Given the description of an element on the screen output the (x, y) to click on. 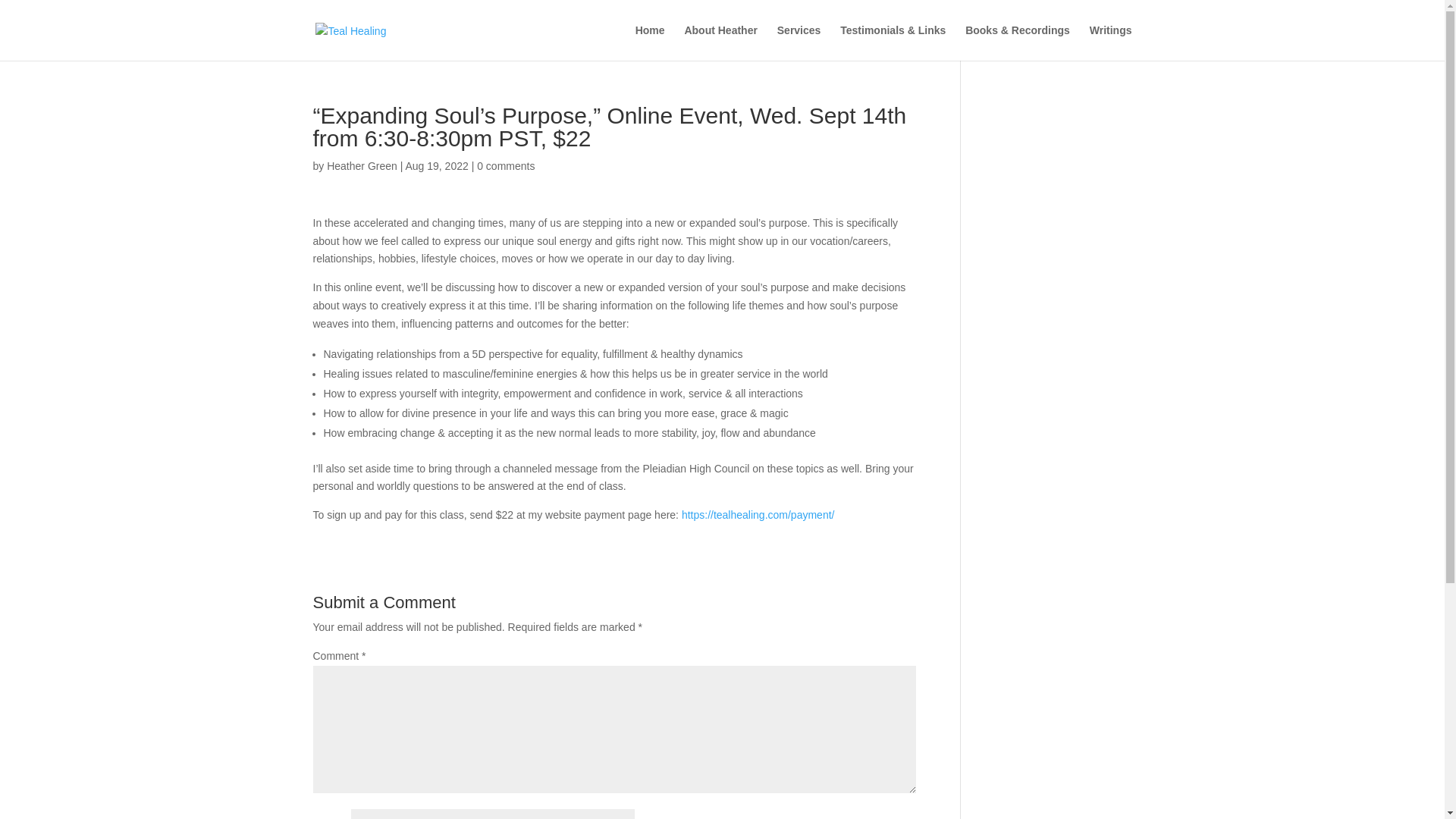
Writings (1110, 42)
0 comments (505, 165)
About Heather (720, 42)
Services (799, 42)
Heather Green (361, 165)
Posts by Heather Green (361, 165)
